Given the description of an element on the screen output the (x, y) to click on. 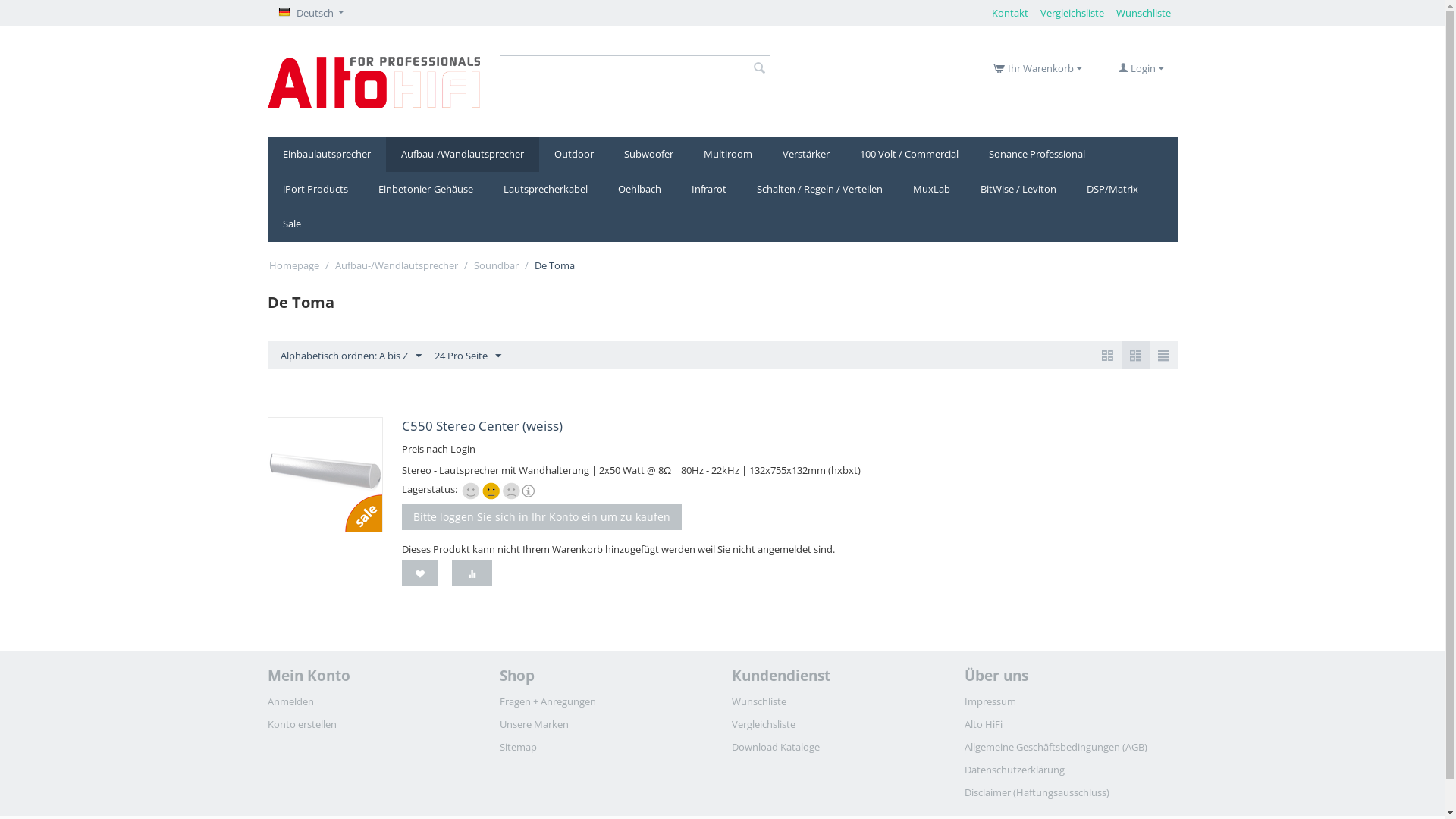
DSP/Matrix Element type: text (1111, 189)
Infrarot Element type: text (708, 189)
iPort Products Element type: text (314, 189)
Sonance Professional Element type: text (1036, 154)
Bitte loggen Sie sich in Ihr Konto ein um zu kaufen Element type: text (541, 517)
Multiroom Element type: text (727, 154)
Alto HiFi AG Element type: hover (373, 80)
100 Volt / Commercial Element type: text (908, 154)
Vergleichsliste Element type: hover (471, 573)
Oehlbach Element type: text (638, 189)
Wunschliste Element type: text (1143, 12)
Aufbau-/Wandlautsprecher Element type: text (396, 265)
BitWise / Leviton Element type: text (1017, 189)
Deutsch Element type: text (310, 12)
Outdoor Element type: text (573, 154)
Einbaulautsprecher Element type: text (325, 154)
Ihr Warenkorb Element type: text (1037, 68)
Sitemap Element type: text (517, 746)
Download Kataloge Element type: text (775, 746)
Kontakt Element type: text (1009, 12)
Alphabetisch ordnen: A bis Z Element type: text (350, 355)
Sale Element type: text (290, 224)
Impressum Element type: text (990, 701)
Vergleichsliste Element type: text (763, 724)
Fragen + Anregungen Element type: text (547, 701)
Suche Element type: hover (758, 68)
Aufbau-/Wandlautsprecher Element type: text (461, 154)
Soundbar Element type: text (495, 265)
Konto erstellen Element type: text (300, 724)
Unsere Marken Element type: text (533, 724)
 Login Element type: text (1140, 68)
Subwoofer Element type: text (647, 154)
Disclaimer (Haftungsausschluss) Element type: text (1036, 792)
C550 Stereo Center (weiss) Element type: text (481, 425)
Vergleichsliste Element type: text (1072, 12)
Produkte suchen Element type: hover (634, 67)
Alto HiFi Element type: text (983, 724)
Schalten / Regeln / Verteilen Element type: text (819, 189)
MuxLab Element type: text (931, 189)
24 Pro Seite Element type: text (467, 355)
Lautsprecherkabel Element type: text (545, 189)
Homepage Element type: text (293, 265)
Wunschliste Element type: text (758, 701)
De Toma C550 weiss Element type: hover (325, 474)
Anmelden Element type: text (289, 701)
Alto HiFi AG Element type: hover (373, 82)
